Given the description of an element on the screen output the (x, y) to click on. 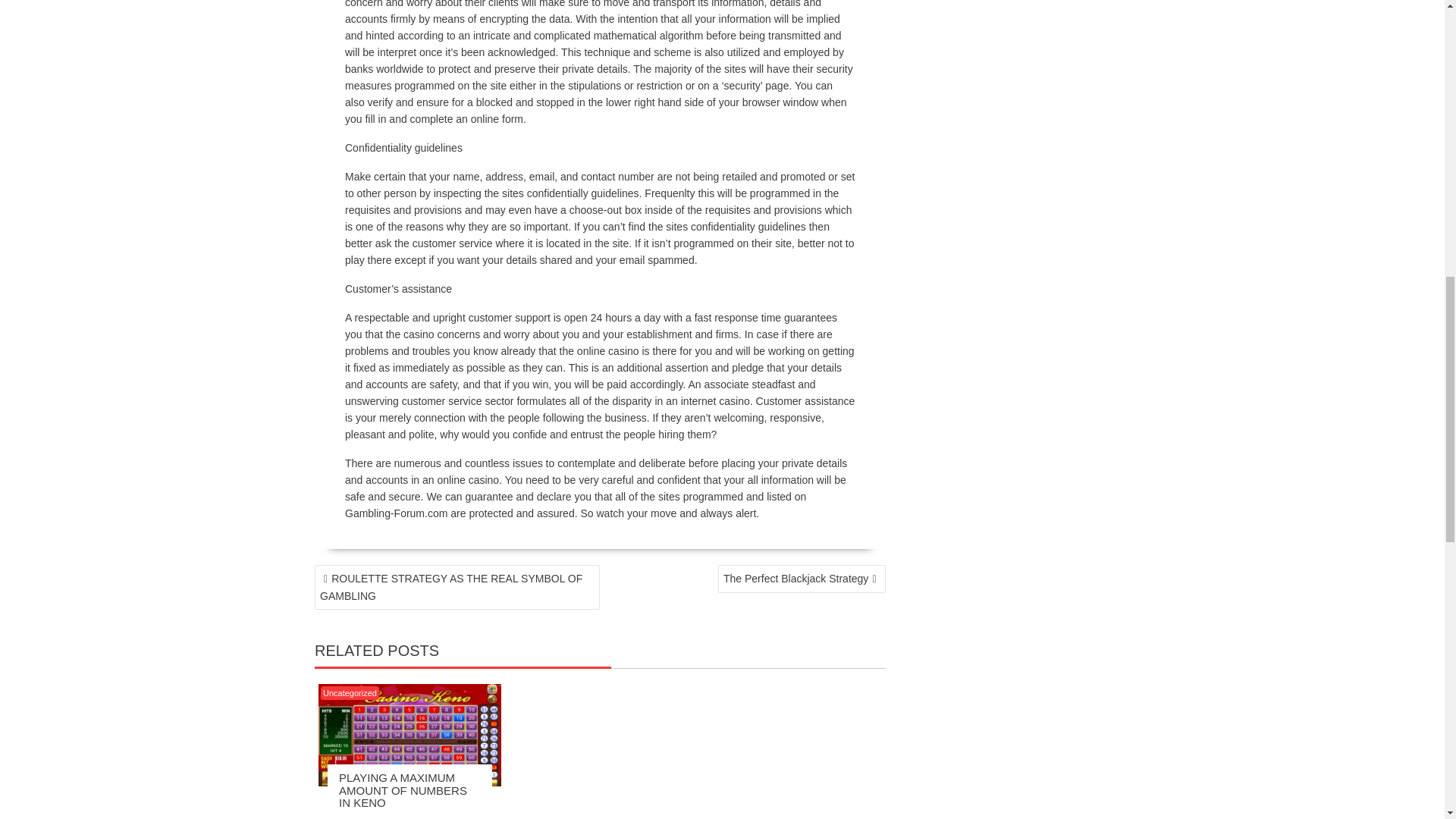
PLAYING A MAXIMUM AMOUNT OF NUMBERS IN KENO (403, 790)
MASON ROBERTS (399, 818)
ROULETTE STRATEGY AS THE REAL SYMBOL OF GAMBLING (456, 587)
Uncategorized (349, 693)
The Perfect Blackjack Strategy (801, 578)
JULY 21, 2018 (371, 818)
